Given the description of an element on the screen output the (x, y) to click on. 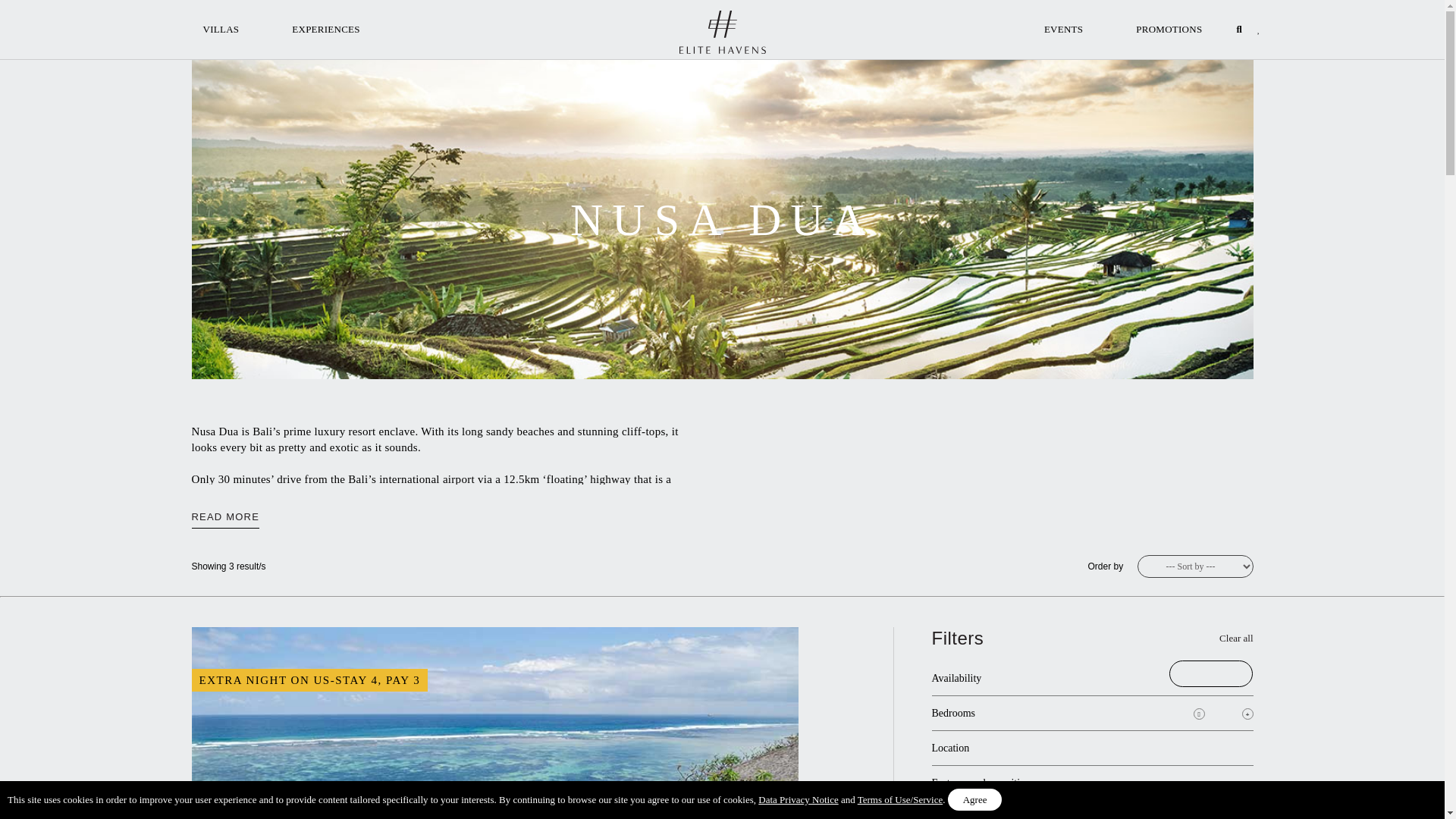
PROMOTIONS (1168, 27)
EVENTS (1063, 27)
EXPERIENCES (325, 27)
VILLAS (220, 27)
